Given the description of an element on the screen output the (x, y) to click on. 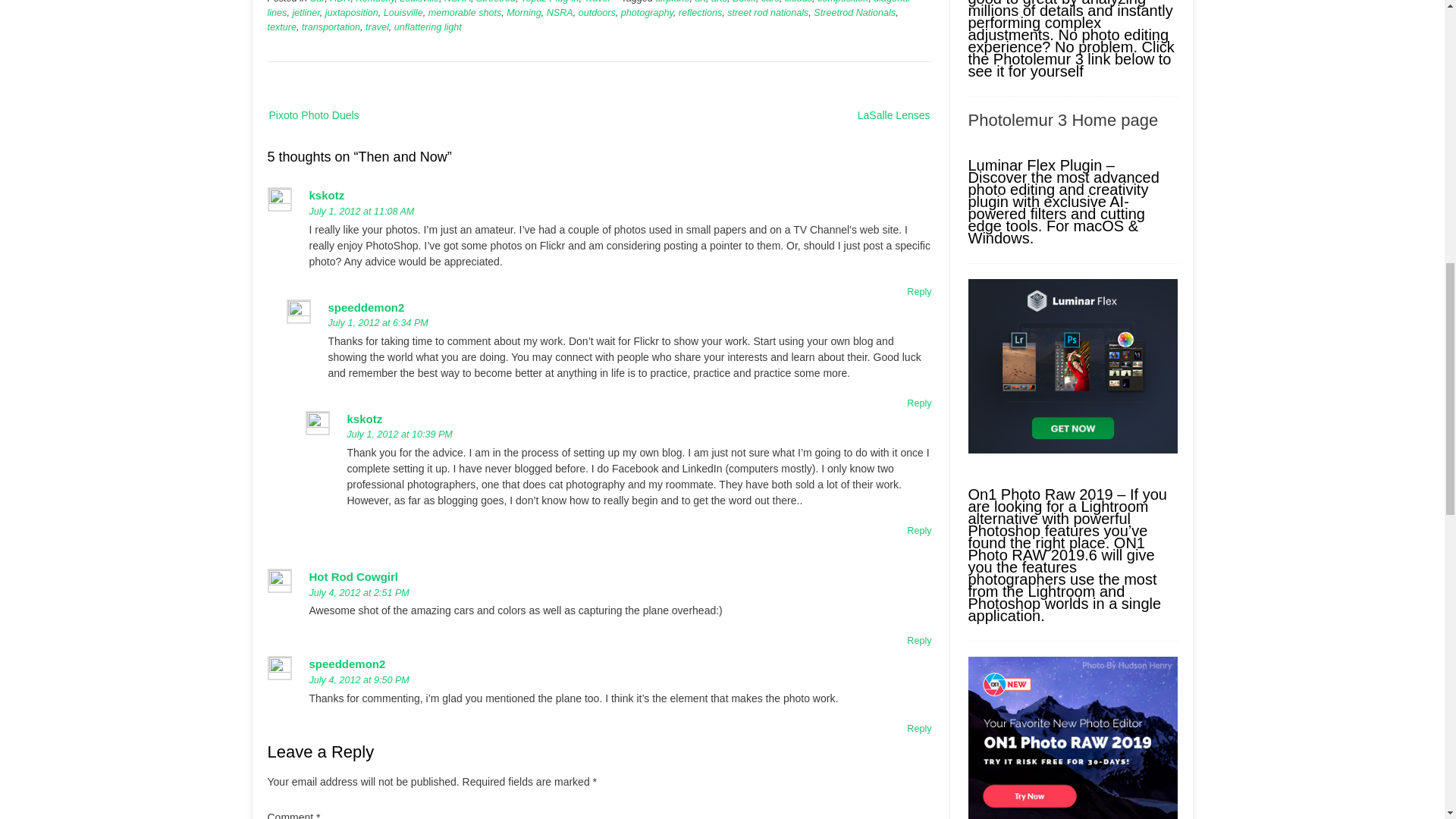
reflections (700, 12)
memorable shots (465, 12)
Topaz Plug-in (550, 2)
airplane (673, 2)
HDR (340, 2)
jetliner (305, 12)
Morning (523, 12)
composition (841, 2)
Louisville (418, 2)
Streetrod (495, 2)
